Given the description of an element on the screen output the (x, y) to click on. 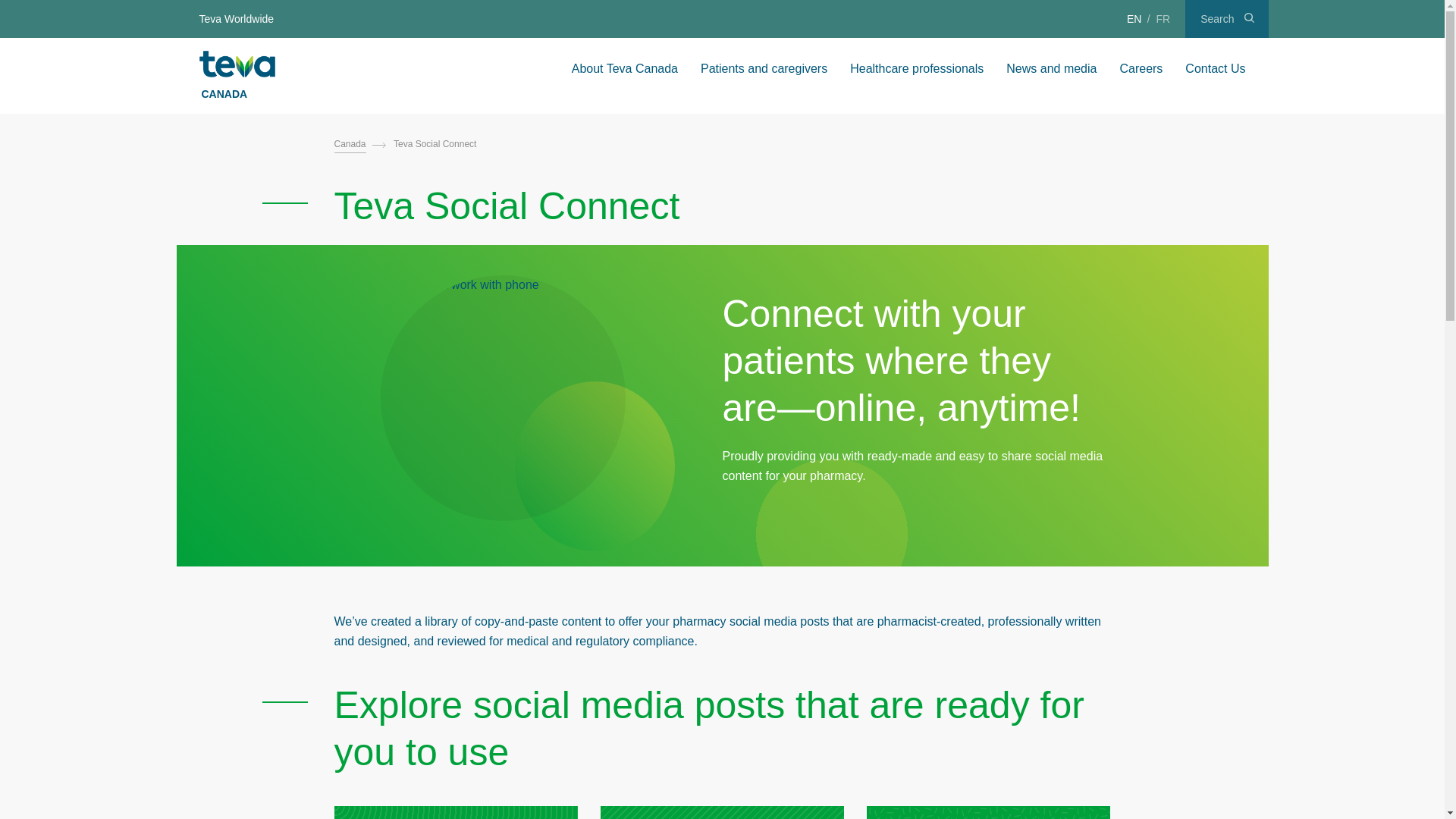
Teva Worldwide (236, 18)
French (1163, 18)
English (1133, 18)
Teva Canada (236, 63)
About Teva Canada (624, 68)
Patients and caregivers (763, 68)
Search (1226, 18)
Healthcare professionals (916, 68)
